Given the description of an element on the screen output the (x, y) to click on. 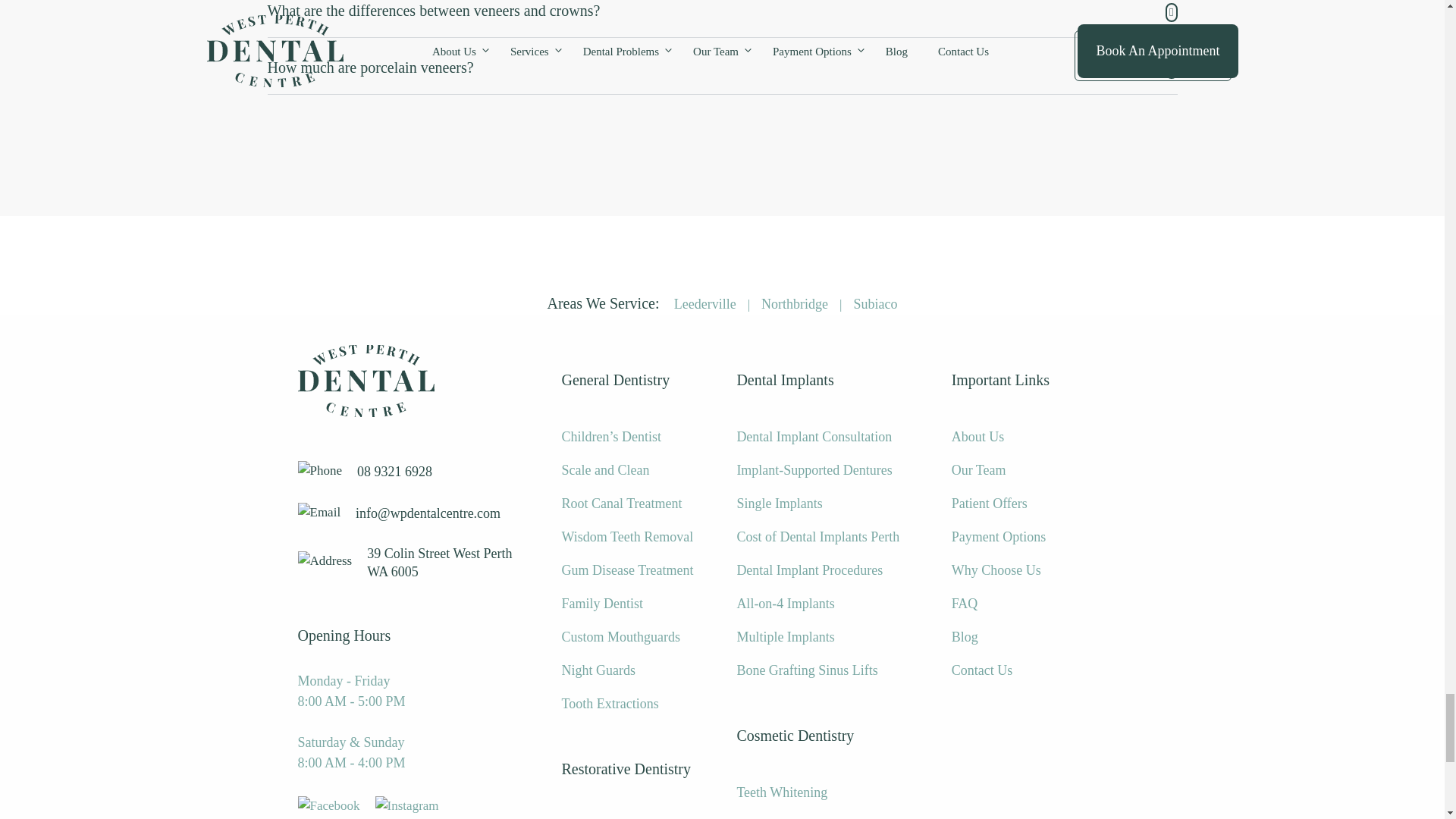
Facebook (328, 805)
West Perth Dental (365, 380)
Instagram (407, 805)
